Given the description of an element on the screen output the (x, y) to click on. 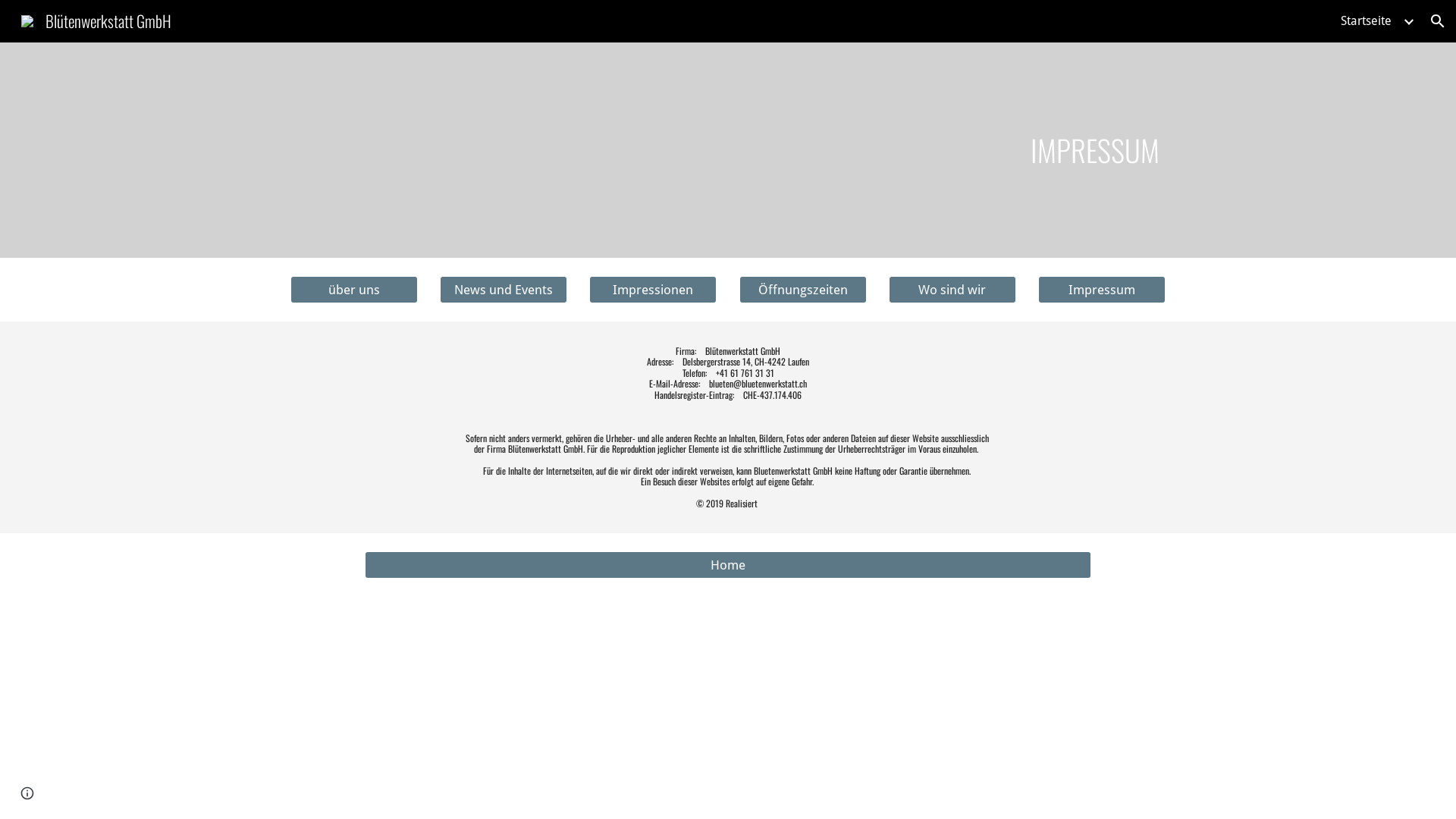
News und Events Element type: text (503, 289)
Impressum Element type: text (1101, 289)
Expand/Collapse Element type: hover (1408, 20)
Home Element type: text (727, 564)
Impressionen Element type: text (652, 289)
Wo sind wir Element type: text (952, 289)
Startseite Element type: text (1366, 20)
